Given the description of an element on the screen output the (x, y) to click on. 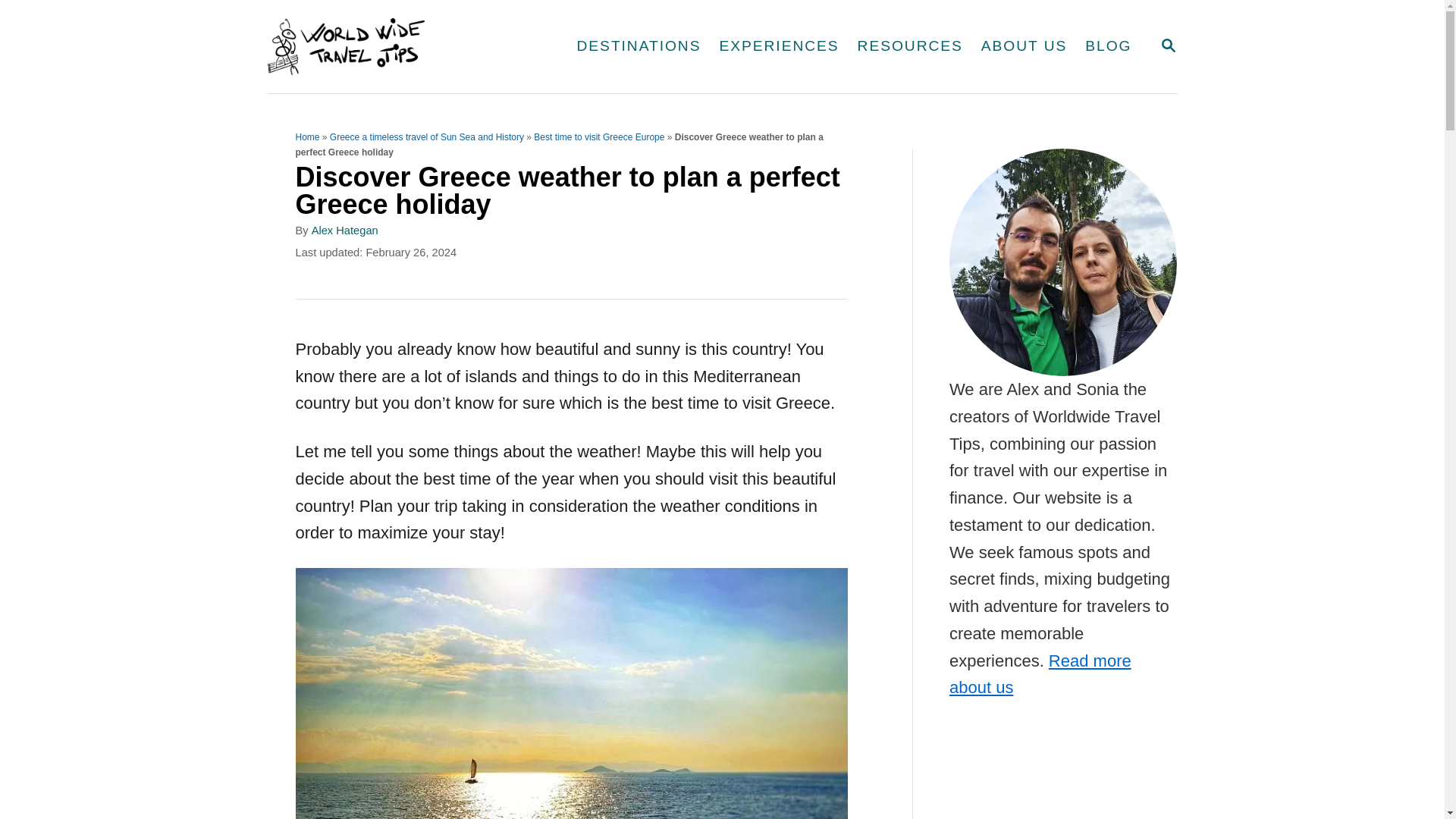
Best time to visit Greece Europe (598, 136)
MAGNIFYING GLASS (1167, 45)
Home (307, 136)
Resources (1168, 46)
ABOUT US (910, 45)
EXPERIENCES (1023, 45)
Alex Hategan (778, 45)
BLOG (344, 230)
Greece a timeless travel of Sun Sea and History (1107, 45)
